Given the description of an element on the screen output the (x, y) to click on. 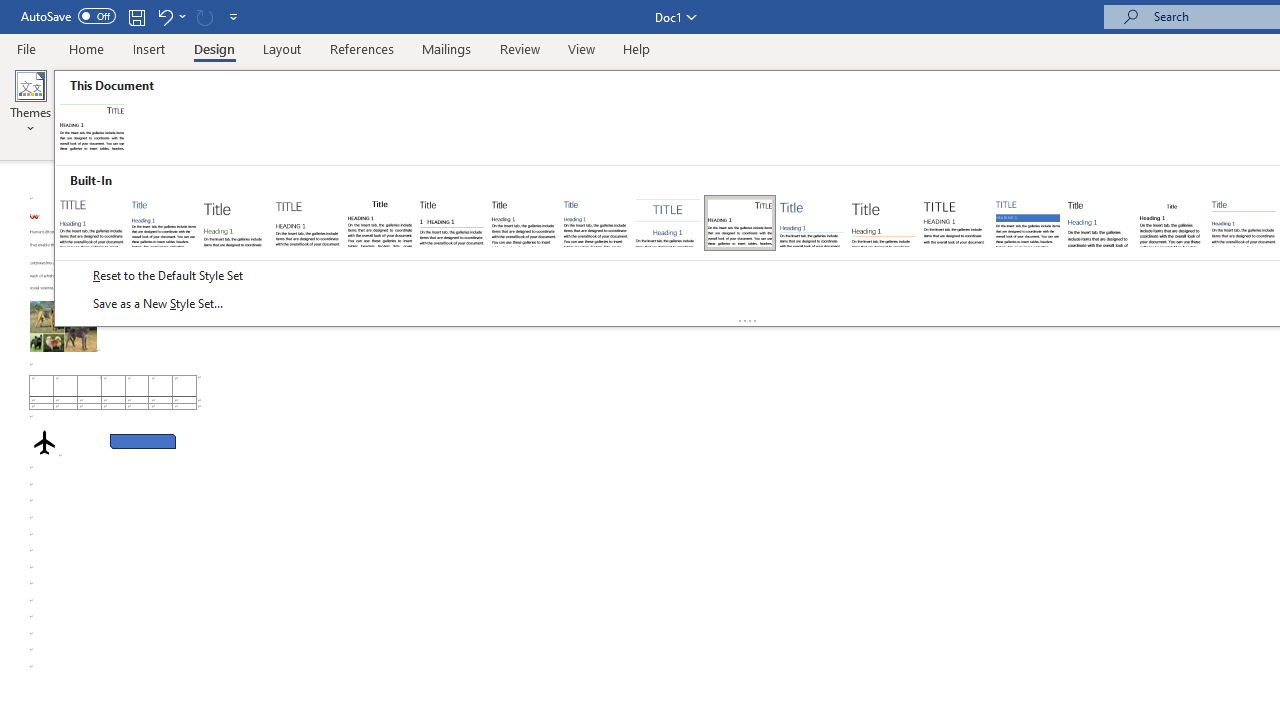
Can't Repeat (204, 15)
